Given the description of an element on the screen output the (x, y) to click on. 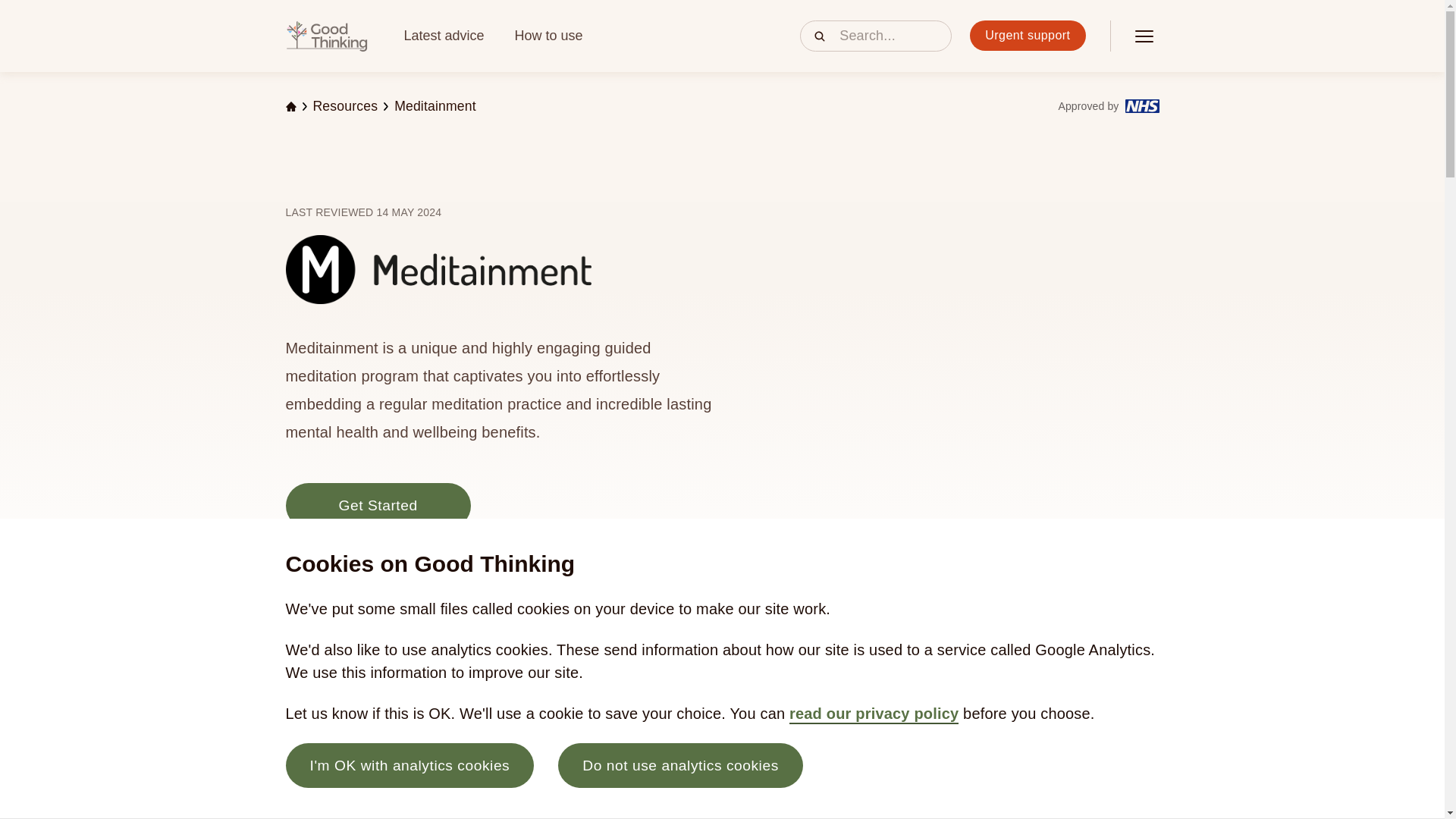
I'm OK with analytics cookies (409, 764)
Do not use analytics cookies (680, 764)
Vimeo video player (970, 304)
Urgent support (1026, 36)
Latest advice (443, 35)
read our privacy policy (873, 714)
How to use (549, 35)
Get Started (377, 505)
Get Started (377, 504)
Urgent support (1026, 35)
